Given the description of an element on the screen output the (x, y) to click on. 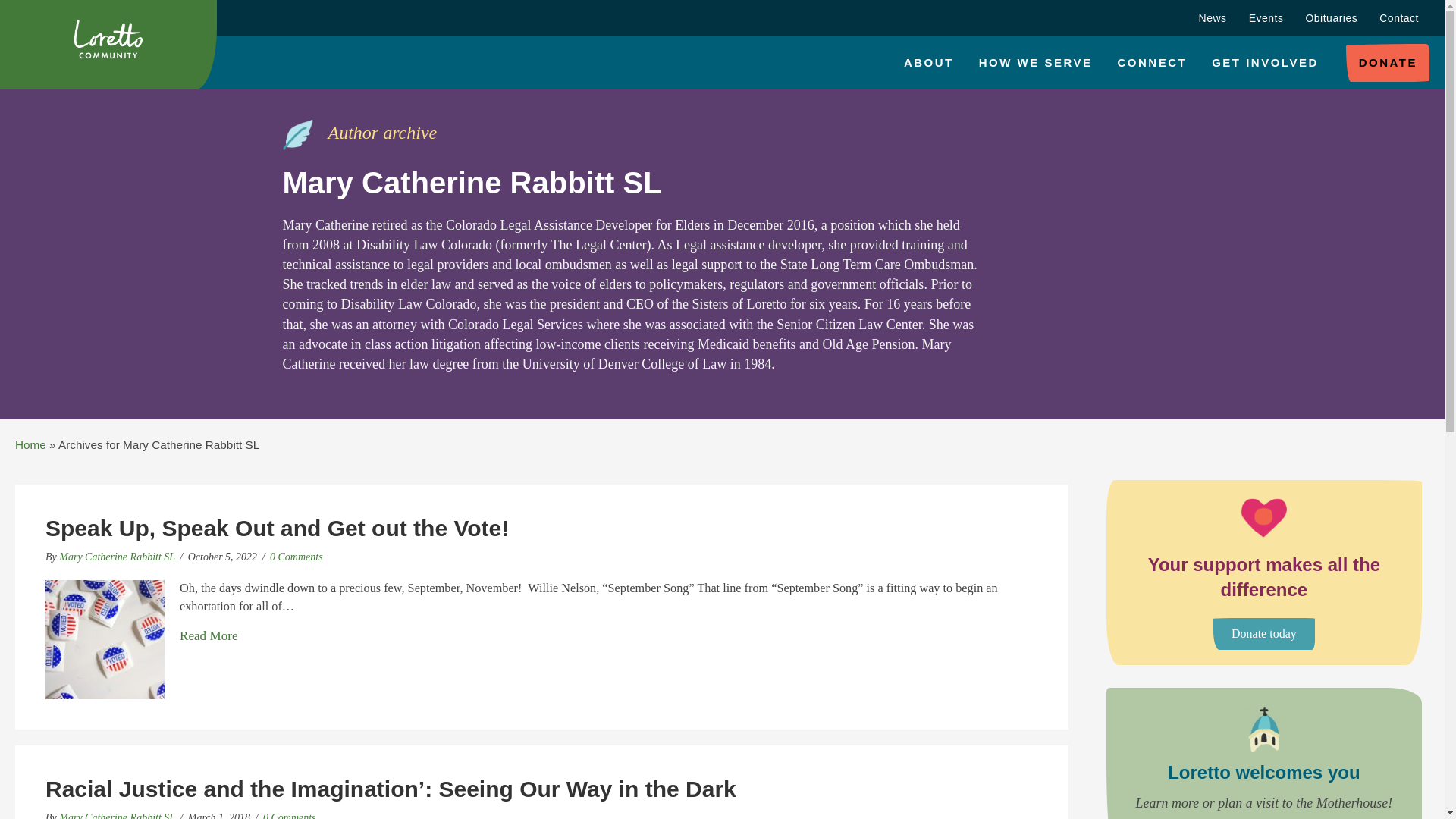
Cupola Cross 2-Icon (1264, 729)
Obituaries (1331, 18)
Events (1266, 18)
Speak Up, Speak Out and Get out the Vote! (276, 527)
Speak Up, Speak Out and Get out the Vote! (104, 638)
ABOUT (928, 62)
Speak Up, Speak Out and Get out the Vote! (208, 636)
News (1212, 18)
Feather-Icon (297, 134)
Contact (1398, 18)
